Given the description of an element on the screen output the (x, y) to click on. 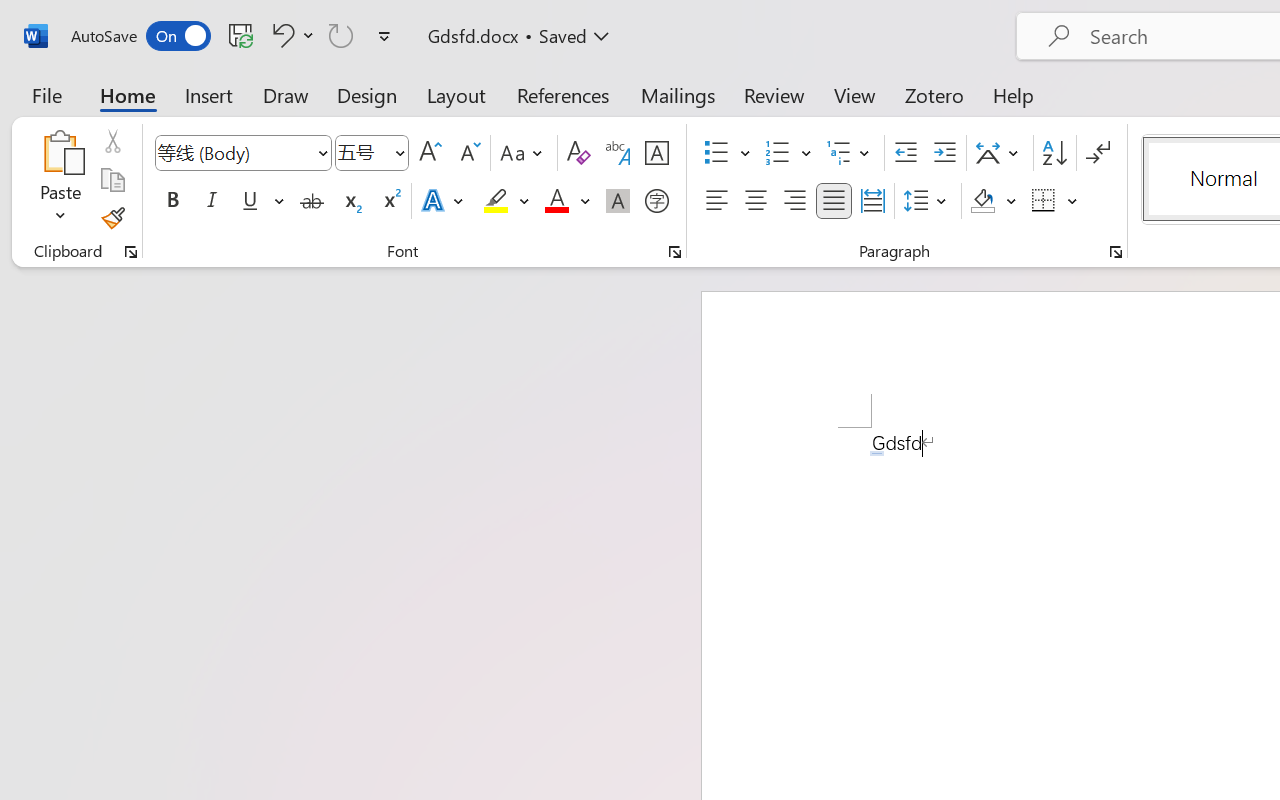
Can't Repeat (341, 35)
Character Shading (618, 201)
Font Color Red (556, 201)
Paragraph... (1115, 252)
Font... (675, 252)
Distributed (872, 201)
Shrink Font (468, 153)
Grow Font (430, 153)
Enclose Characters... (656, 201)
Subscript (350, 201)
